Given the description of an element on the screen output the (x, y) to click on. 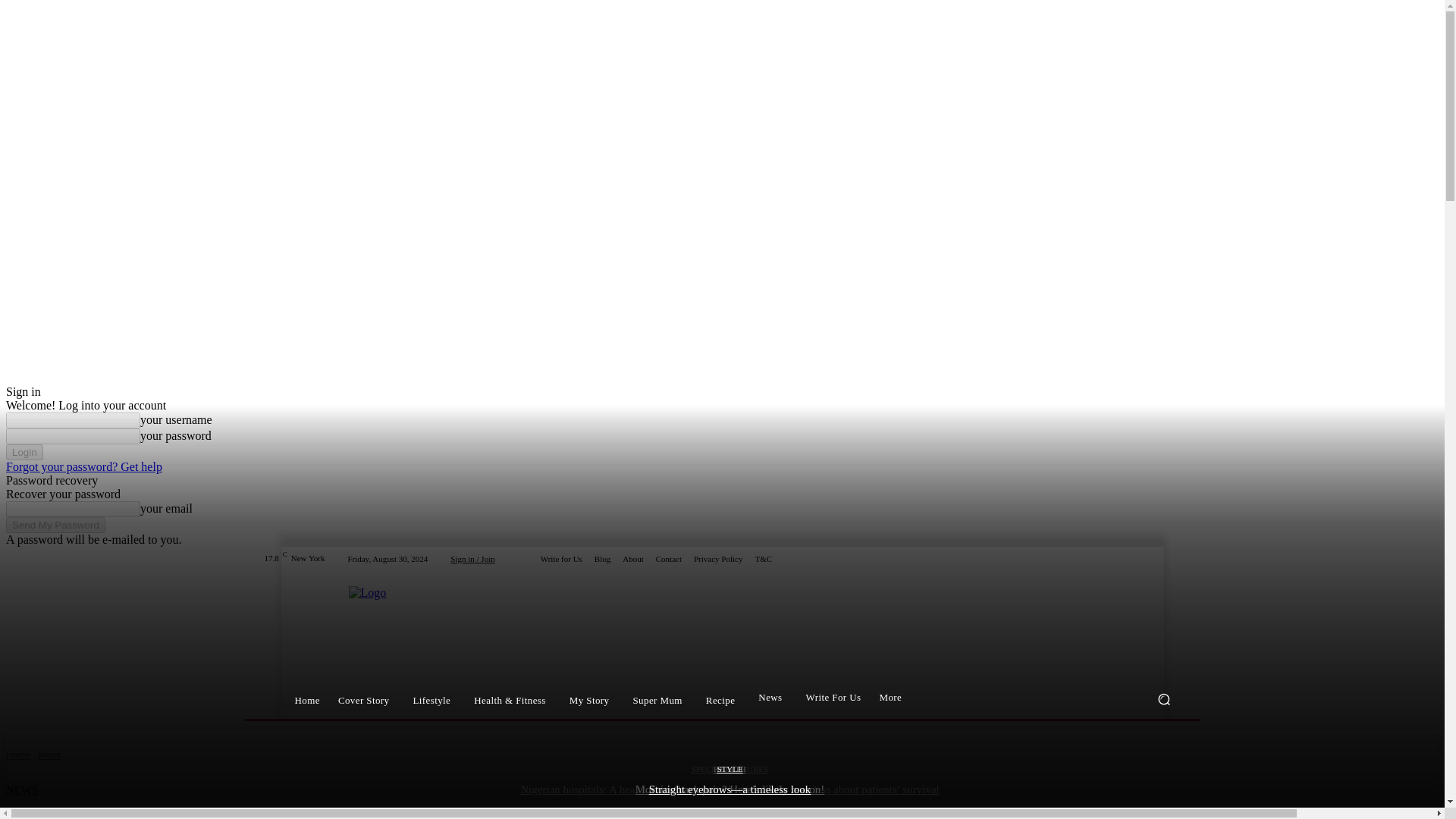
Vimeo (1153, 558)
Login (24, 452)
Facebook (1099, 558)
Instagram (1117, 558)
Cover Story (366, 699)
Contact (668, 559)
Blog (602, 559)
Youtube (1171, 558)
About (633, 559)
Privacy Policy (718, 559)
